Given the description of an element on the screen output the (x, y) to click on. 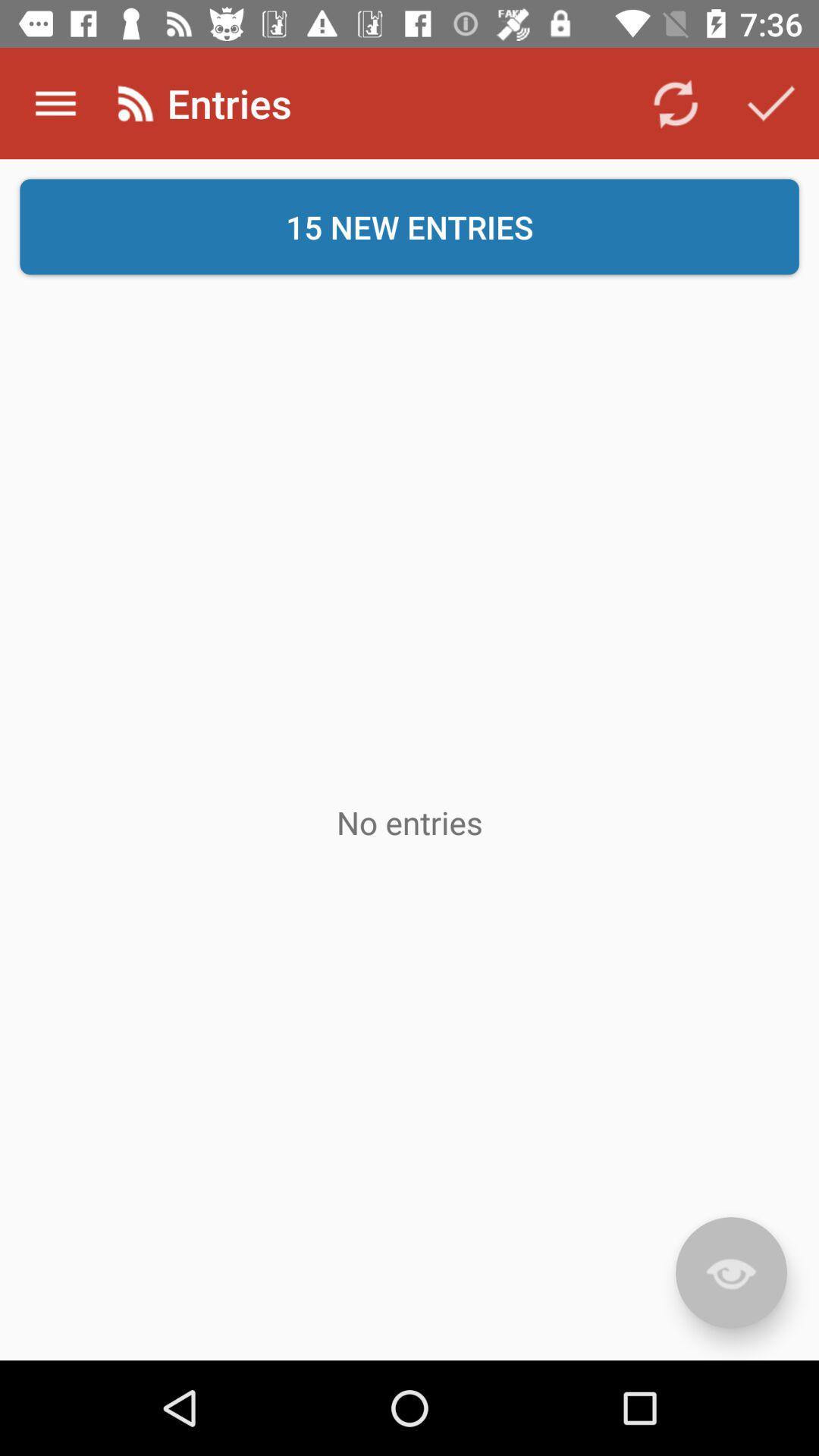
choose button above the 15 new entries button (771, 103)
